Given the description of an element on the screen output the (x, y) to click on. 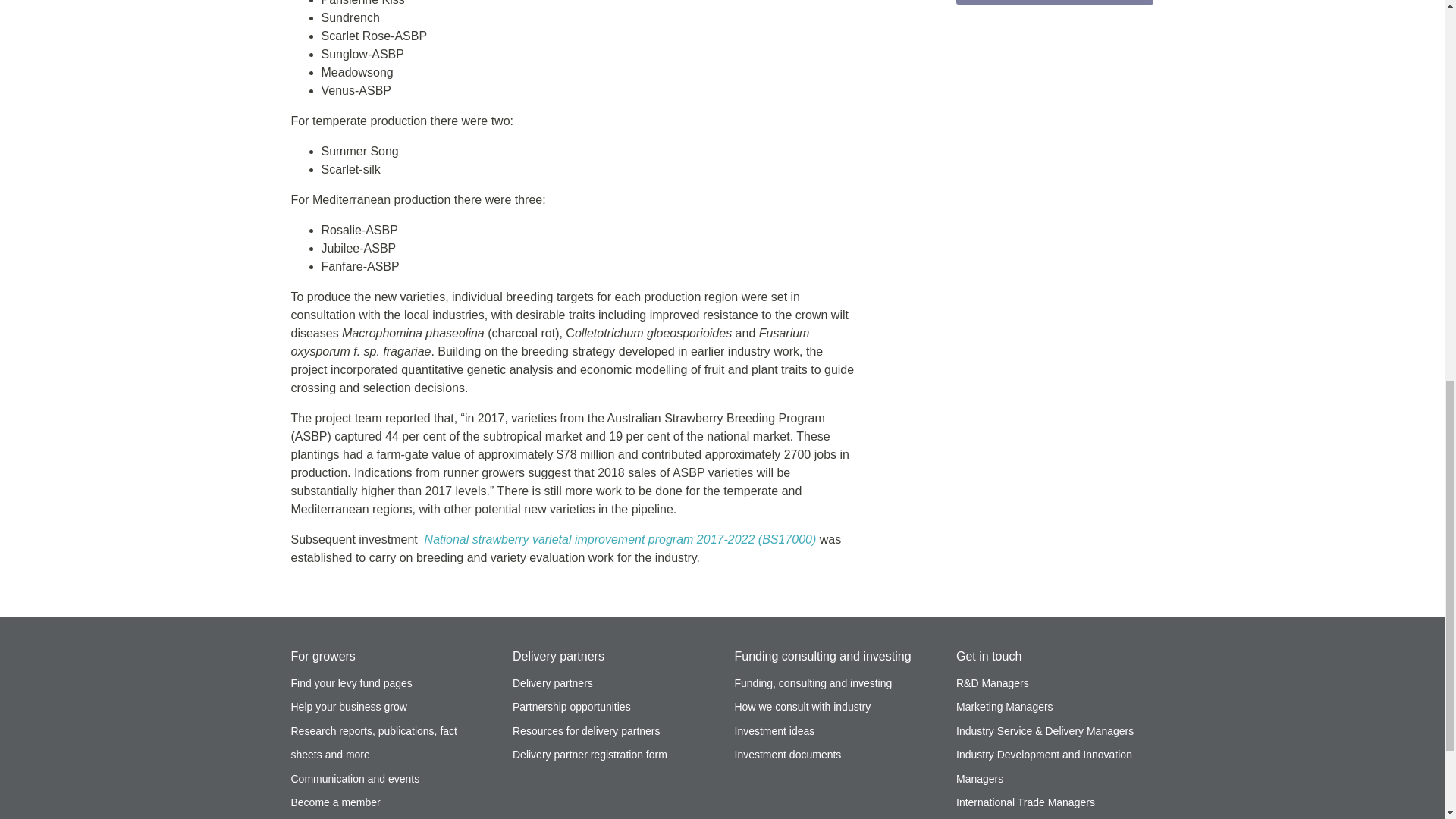
BS17000 (620, 539)
